Given the description of an element on the screen output the (x, y) to click on. 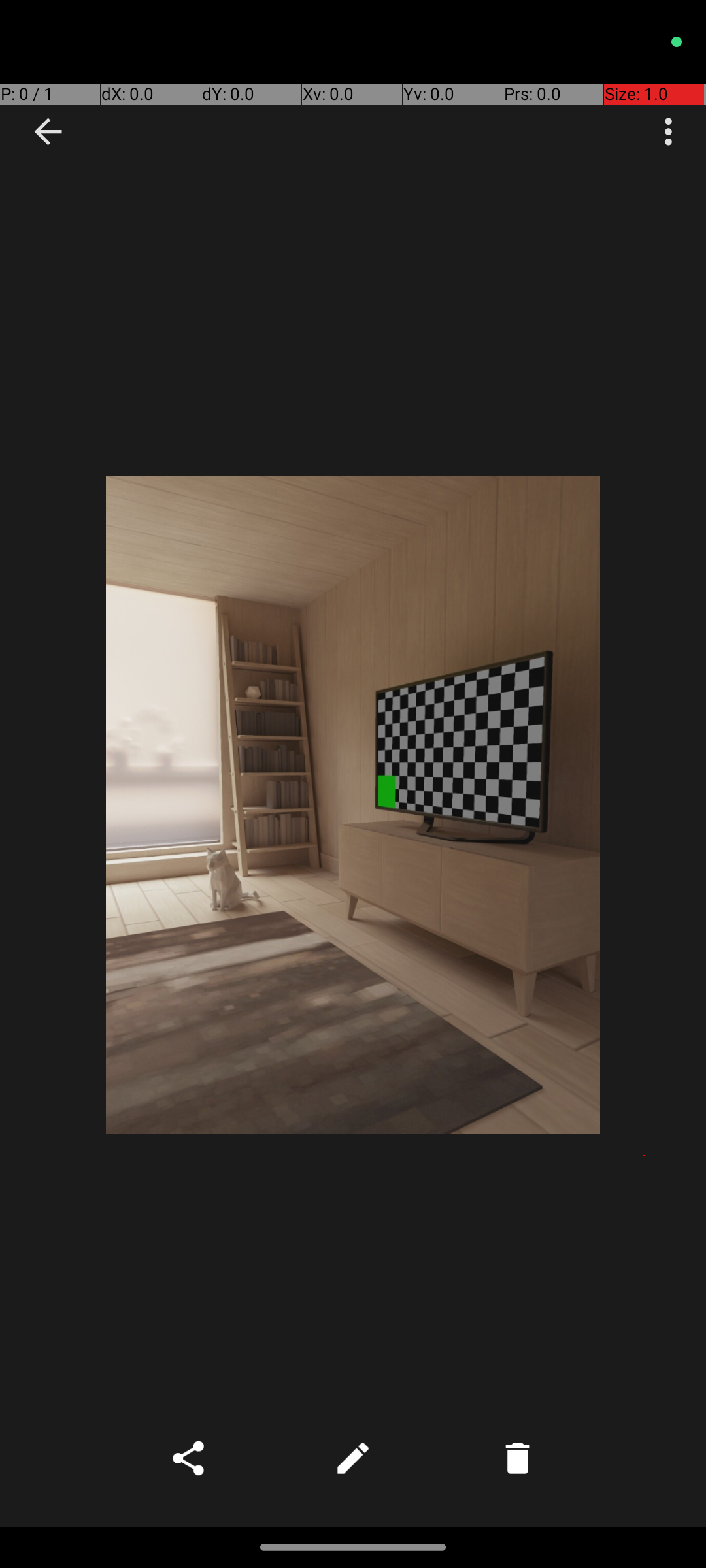
Photo taken on Oct 15, 2023 15:34:20 Element type: android.widget.ImageView (352, 804)
